Given the description of an element on the screen output the (x, y) to click on. 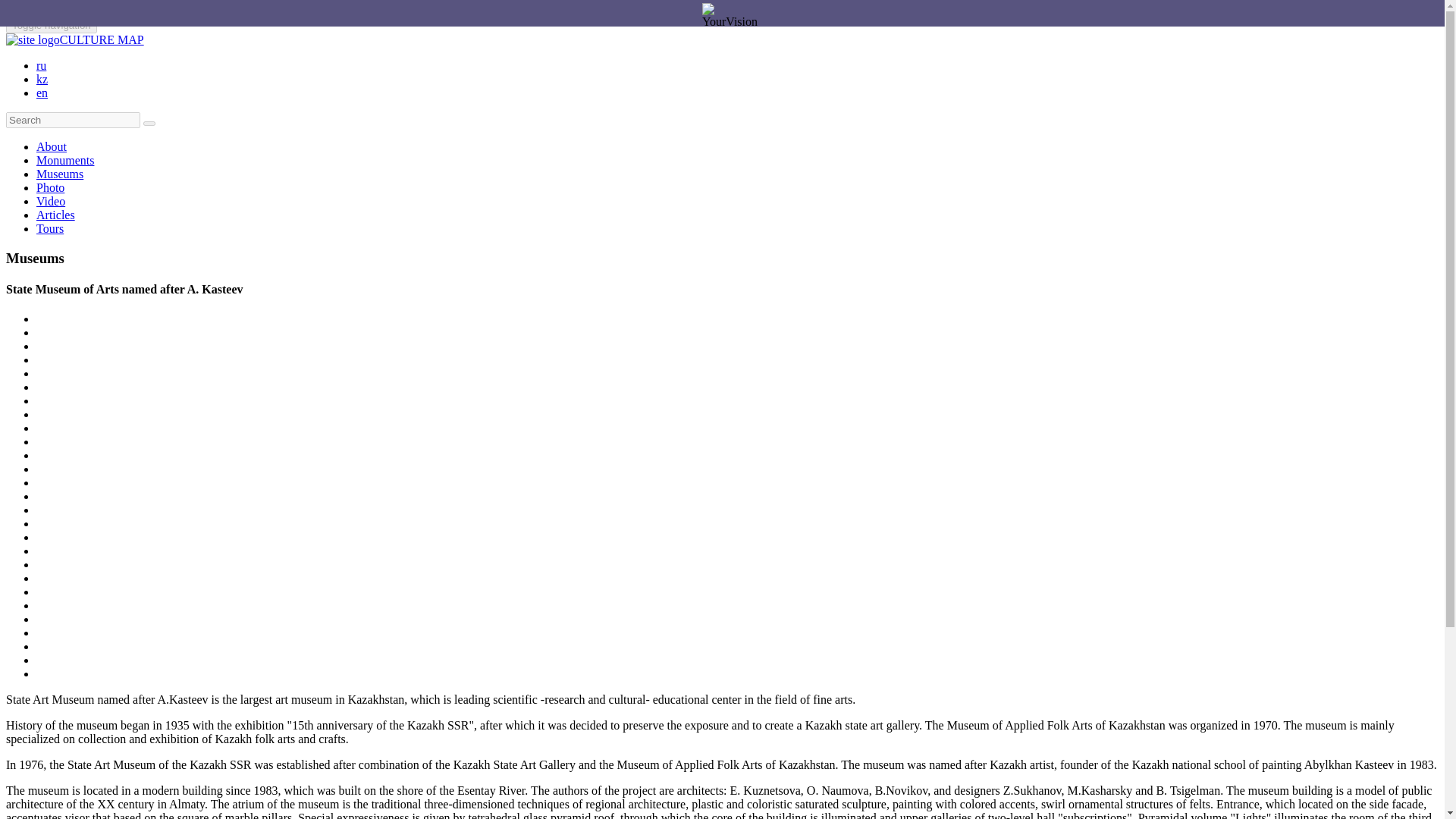
About (51, 146)
Museums (59, 173)
Monuments (65, 160)
Tours (50, 228)
Video (50, 201)
ru (41, 65)
en (42, 92)
kz (42, 78)
Photo (50, 187)
Toggle navigation (51, 25)
Articles (55, 214)
CULTURE MAP (74, 39)
